Given the description of an element on the screen output the (x, y) to click on. 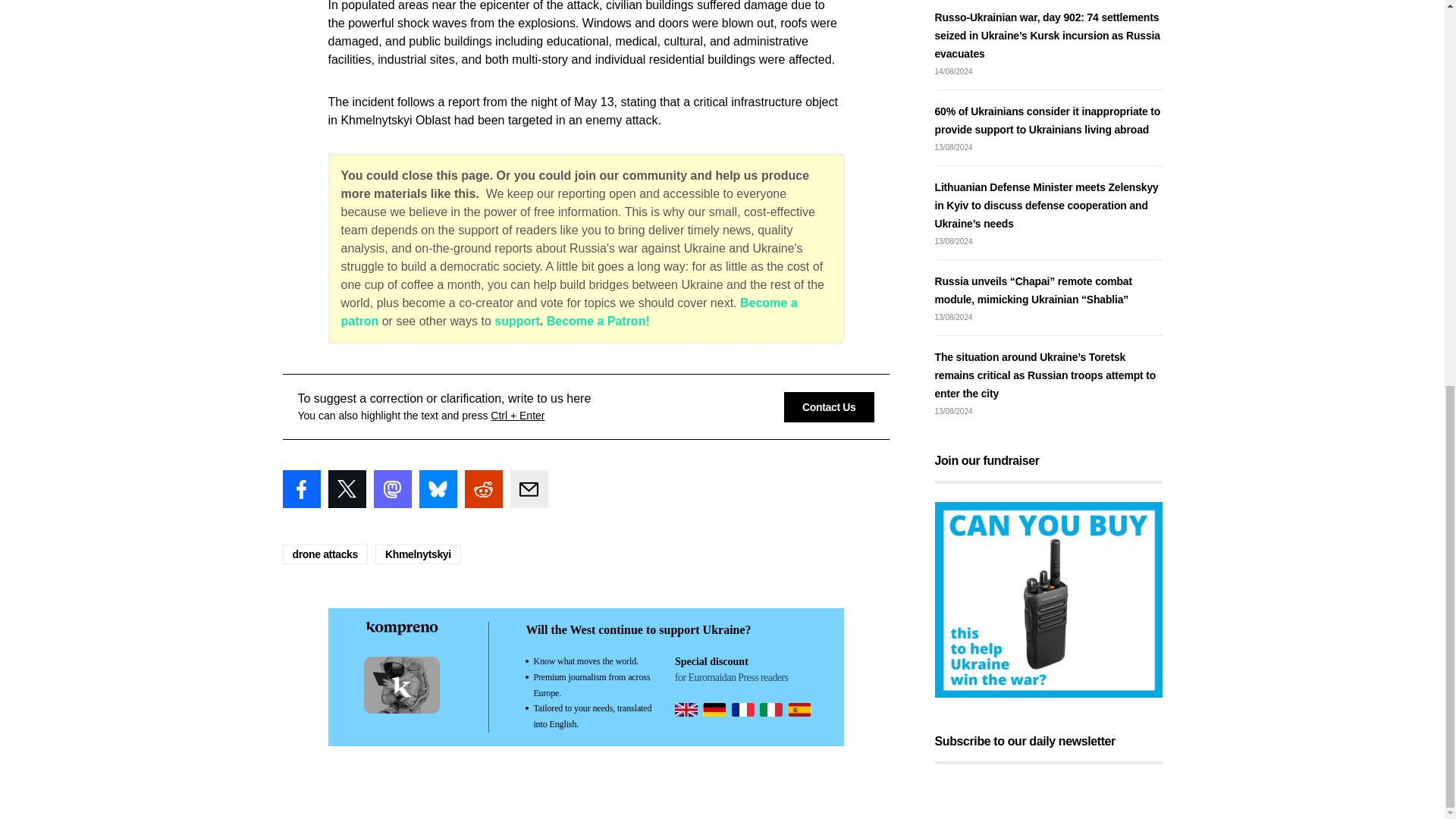
Share to Email (528, 488)
Share to Bluesky (438, 488)
Share to Facebook (301, 488)
Share to Reddit (483, 488)
Share to Twitter (346, 488)
Share to Mastodon (391, 488)
